Given the description of an element on the screen output the (x, y) to click on. 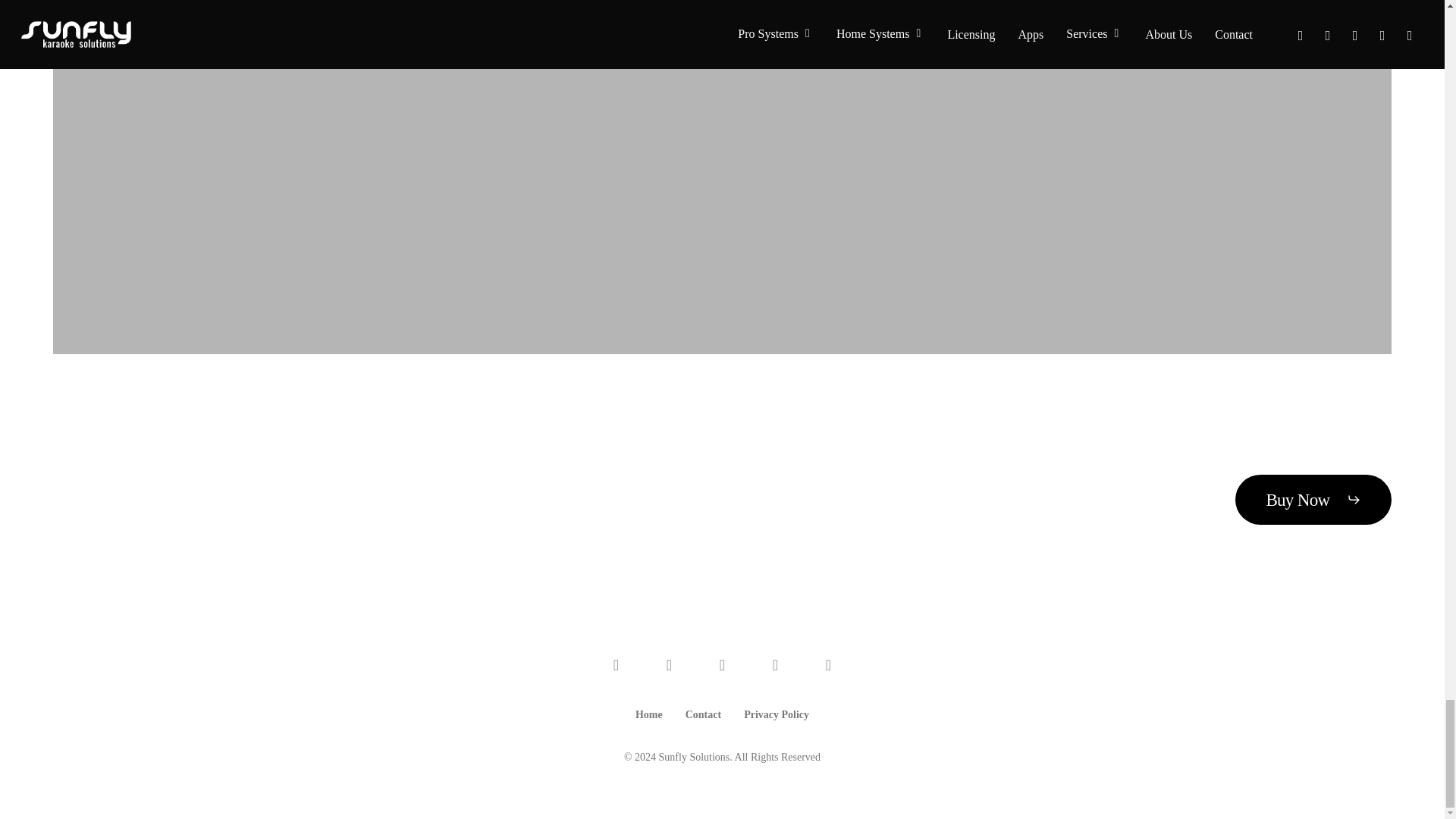
Contact (702, 715)
facebook (669, 665)
x-twitter (615, 665)
Home (648, 715)
linkedin (722, 665)
email (828, 665)
Privacy Policy (776, 715)
Buy Now (1313, 499)
instagram (775, 665)
